Given the description of an element on the screen output the (x, y) to click on. 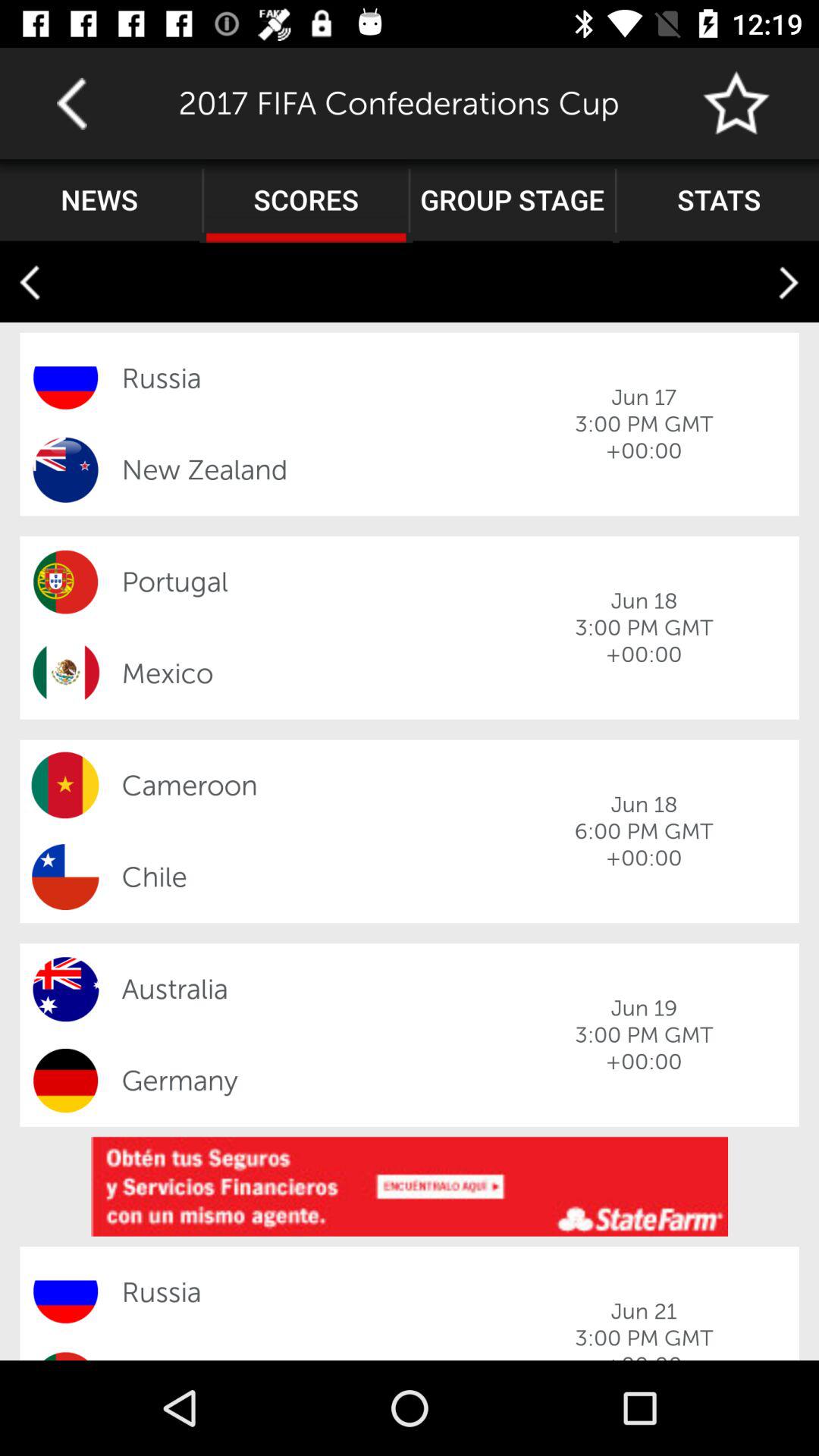
move to the icon beside new zealand (65, 470)
click on symbol below stats (789, 282)
click on icon left to cameroon (65, 785)
click on the back icon above  the news (71, 103)
